Given the description of an element on the screen output the (x, y) to click on. 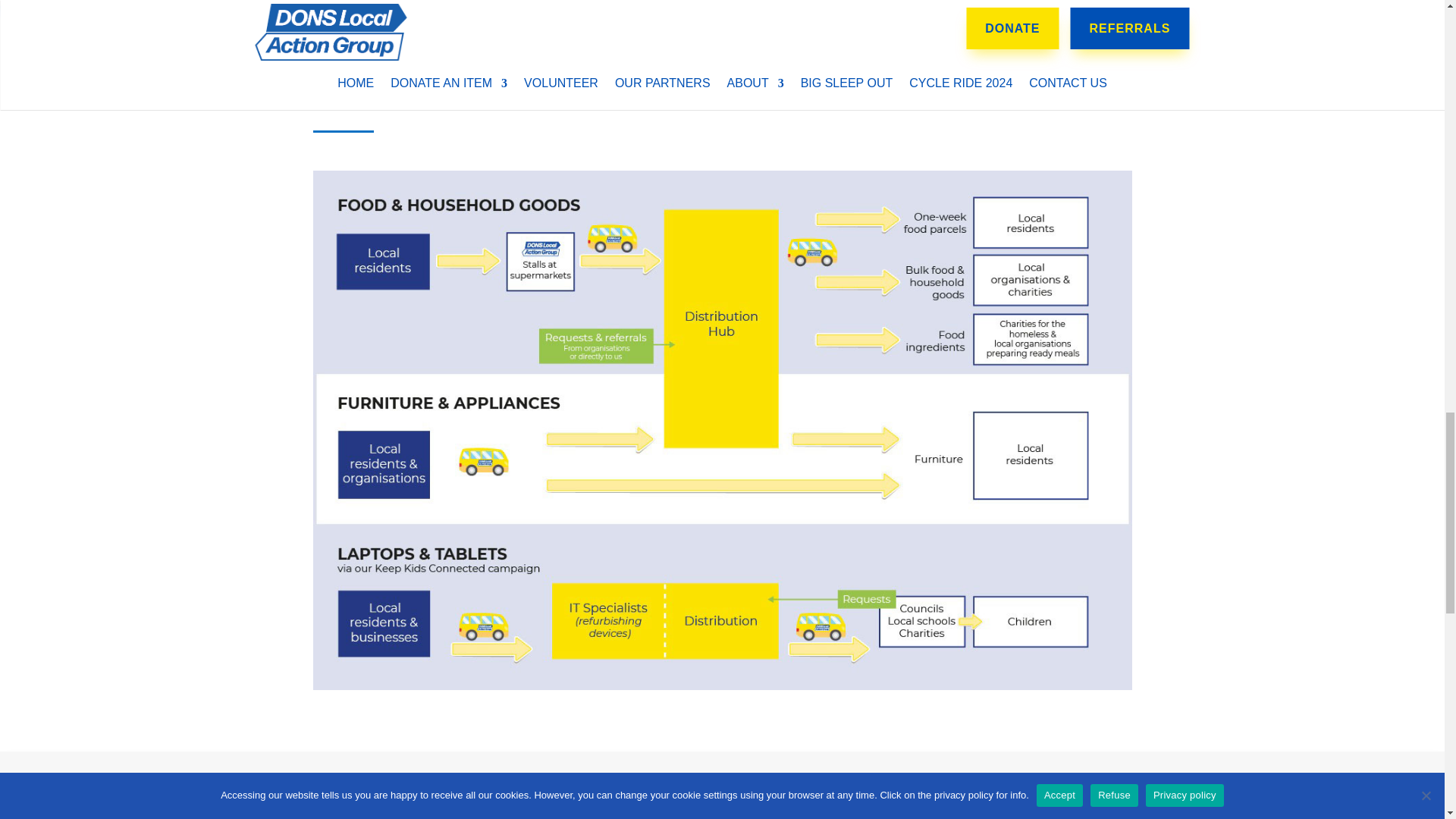
DLAG-Distribution-Diagram (722, 685)
